Given the description of an element on the screen output the (x, y) to click on. 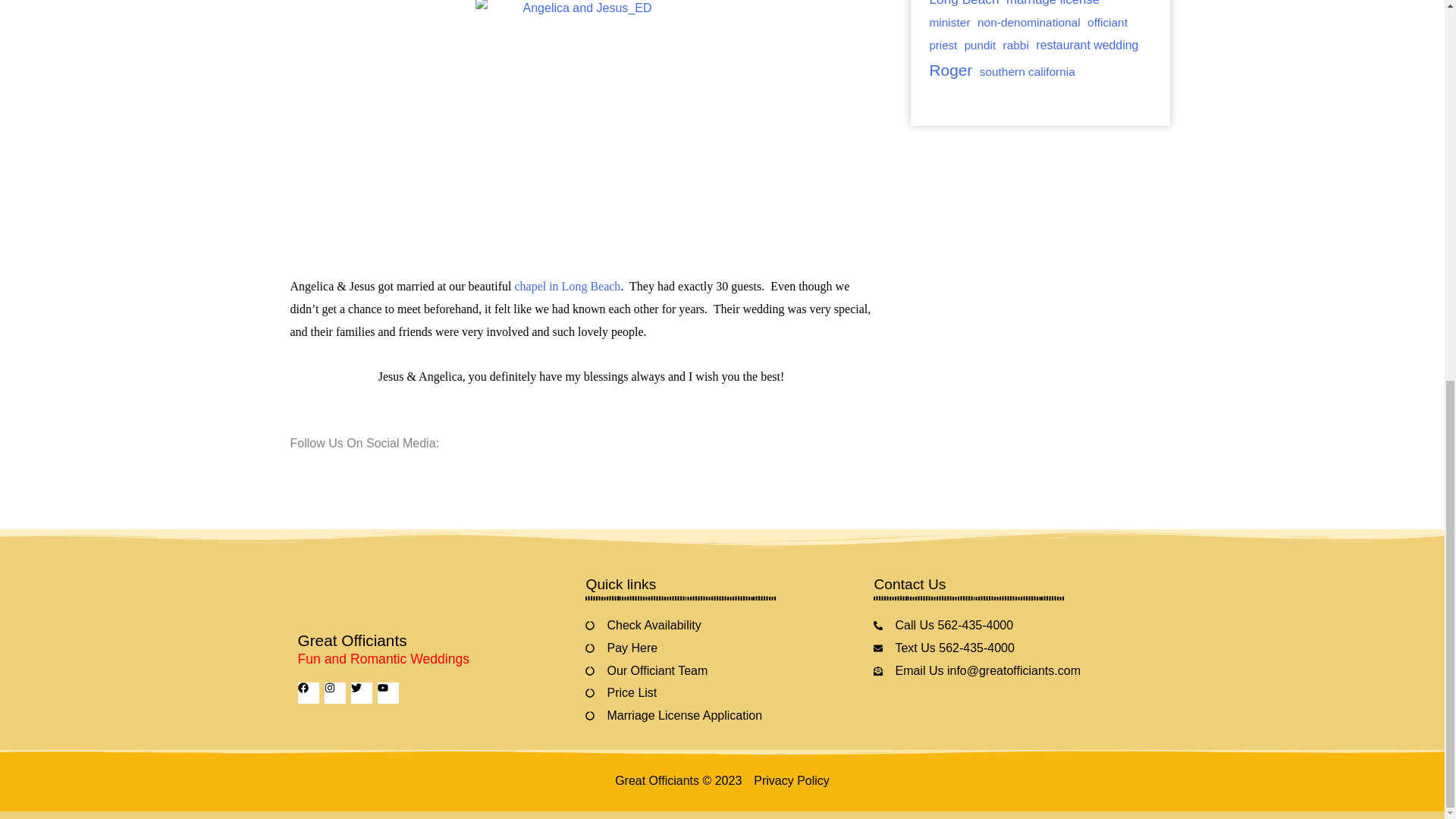
Follow us on Facebook (298, 469)
Find us on tumblr (401, 469)
Find us on YouTube (375, 469)
Follow us on Twitter (324, 469)
Find us on Linkedin (349, 469)
Check out our instagram feed (427, 469)
